Given the description of an element on the screen output the (x, y) to click on. 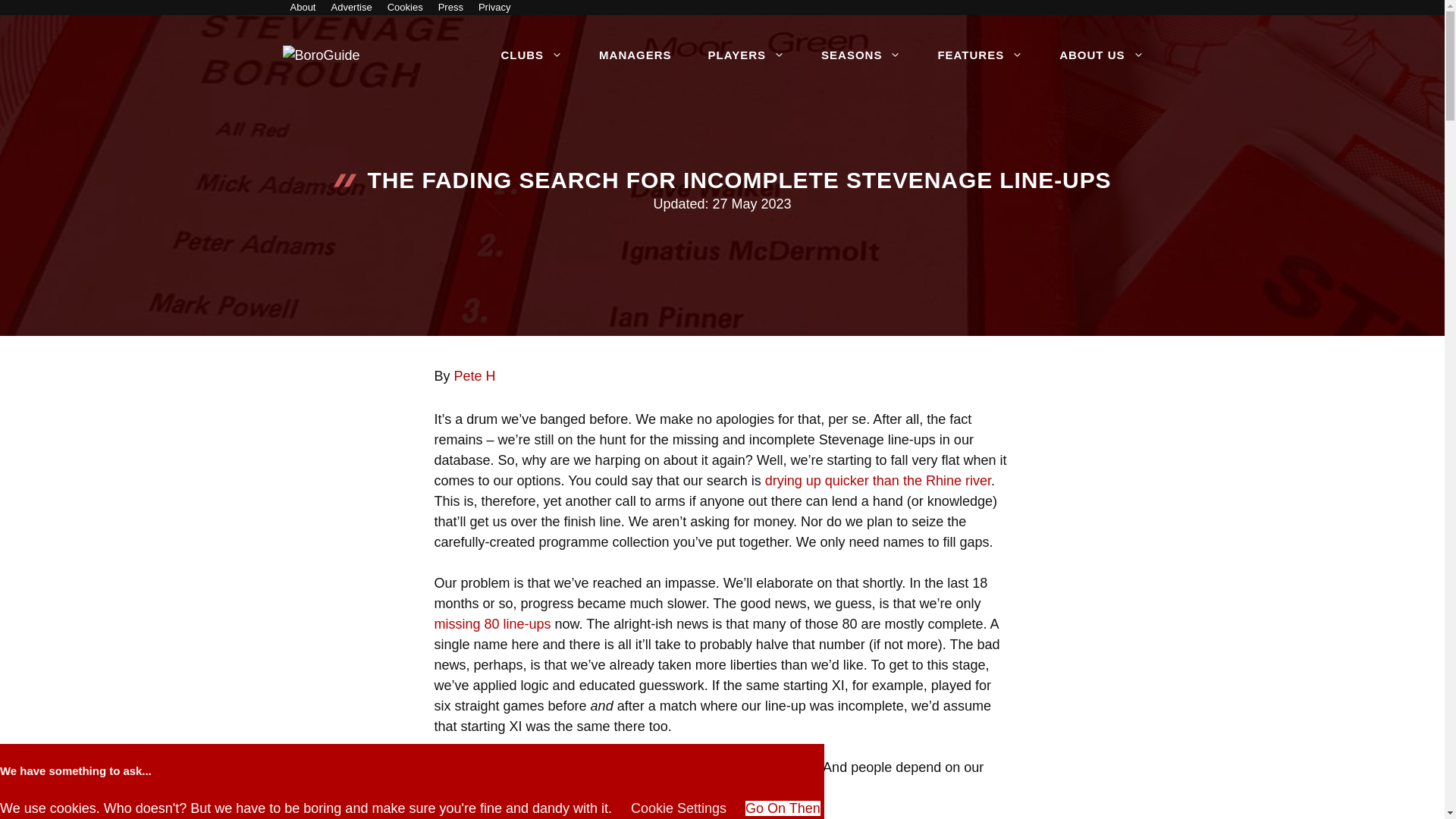
Cookies (405, 7)
CLUBS (530, 55)
MANAGERS (635, 55)
FEATURES (979, 55)
SEASONS (860, 55)
PLAYERS (746, 55)
ABOUT US (1101, 55)
Press (450, 7)
About (302, 7)
Privacy (495, 7)
Advertise (350, 7)
